Given the description of an element on the screen output the (x, y) to click on. 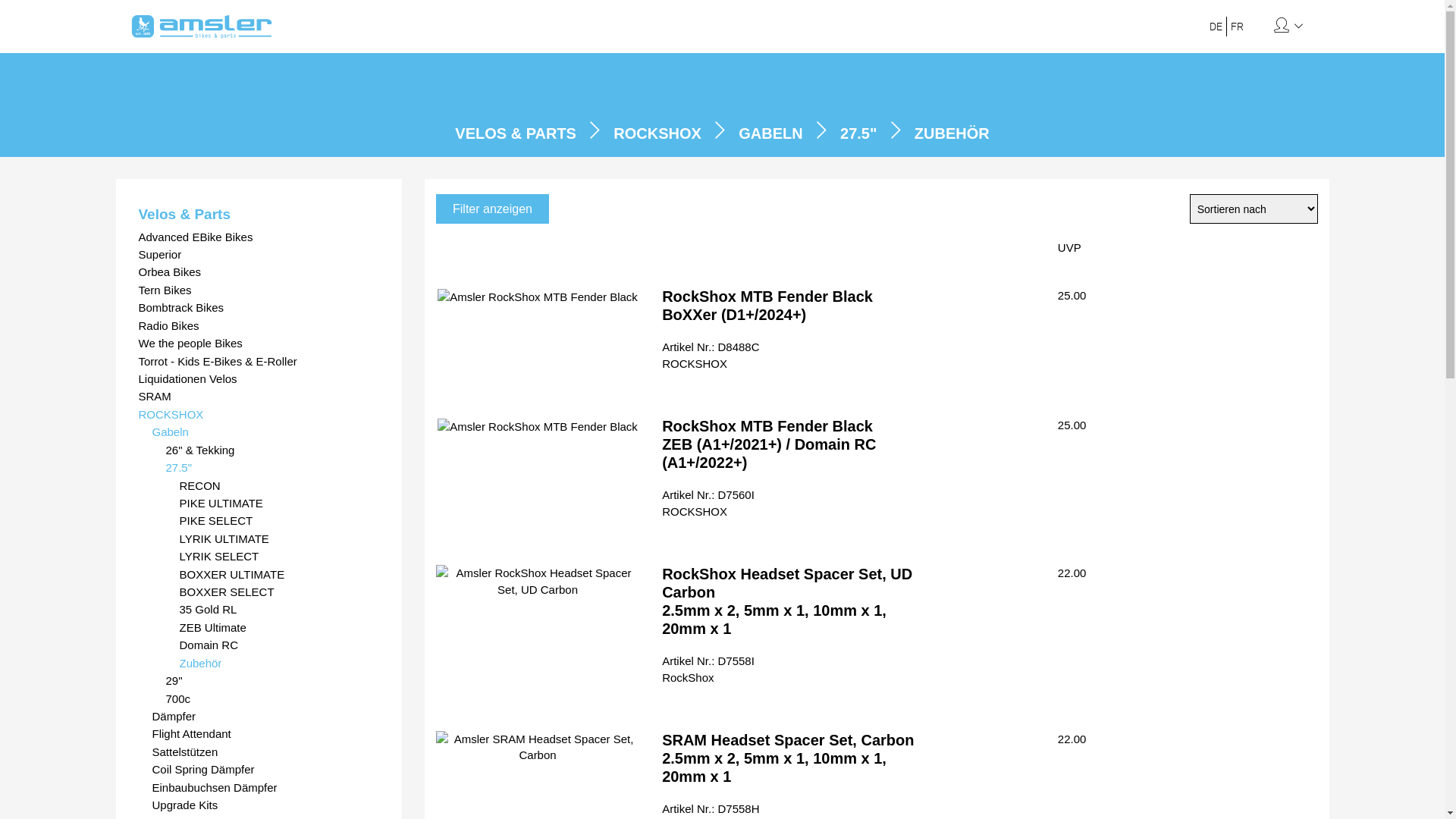
26" & Tekking Element type: text (272, 450)
DE Element type: text (1215, 26)
Superior Element type: text (258, 254)
VELOS & PARTS Element type: text (515, 133)
Bombtrack Bikes Element type: text (258, 307)
We the people Bikes Element type: text (258, 343)
29" Element type: text (272, 680)
Domain RC Element type: text (278, 644)
BOXXER SELECT Element type: text (278, 591)
RECON Element type: text (278, 485)
Gabeln Element type: text (265, 431)
27.5" Element type: text (272, 467)
Radio Bikes Element type: text (258, 325)
Artikel Nr.: D7560I
ROCKSHOX Element type: text (708, 502)
Flight Attendant Element type: text (265, 733)
Tern Bikes Element type: text (258, 290)
35 Gold RL Element type: text (278, 609)
27.5" Element type: text (858, 133)
BOXXER ULTIMATE Element type: text (278, 574)
Torrot - Kids E-Bikes & E-Roller Element type: text (258, 361)
SRAM Headset Spacer Set, Carbon Element type: hover (537, 747)
700c Element type: text (272, 698)
LYRIK SELECT Element type: text (278, 556)
LYRIK ULTIMATE Element type: text (278, 538)
GABELN Element type: text (770, 133)
PIKE SELECT Element type: text (278, 520)
Upgrade Kits Element type: text (265, 804)
FR Element type: text (1236, 26)
Velos & Parts Element type: text (258, 213)
Filter anzeigen Element type: text (492, 208)
Orbea Bikes Element type: text (258, 271)
SRAM Element type: text (258, 396)
Artikel Nr.: D8488C
ROCKSHOX Element type: text (710, 354)
Liquidationen Velos Element type: text (258, 378)
PIKE ULTIMATE Element type: text (278, 503)
RockShox Headset Spacer Set, UD Carbon Element type: hover (537, 580)
ZEB Ultimate Element type: text (278, 627)
RockShox MTB Fender Black Element type: hover (537, 426)
RockShox MTB Fender Black
BoXXer (D1+/2024+) Element type: text (767, 305)
RockShox MTB Fender Black Element type: hover (537, 296)
Artikel Nr.: D7558I
RockShox Element type: text (708, 668)
Advanced EBike Bikes Element type: text (258, 236)
ROCKSHOX Element type: text (657, 133)
ROCKSHOX Element type: text (258, 414)
